Given the description of an element on the screen output the (x, y) to click on. 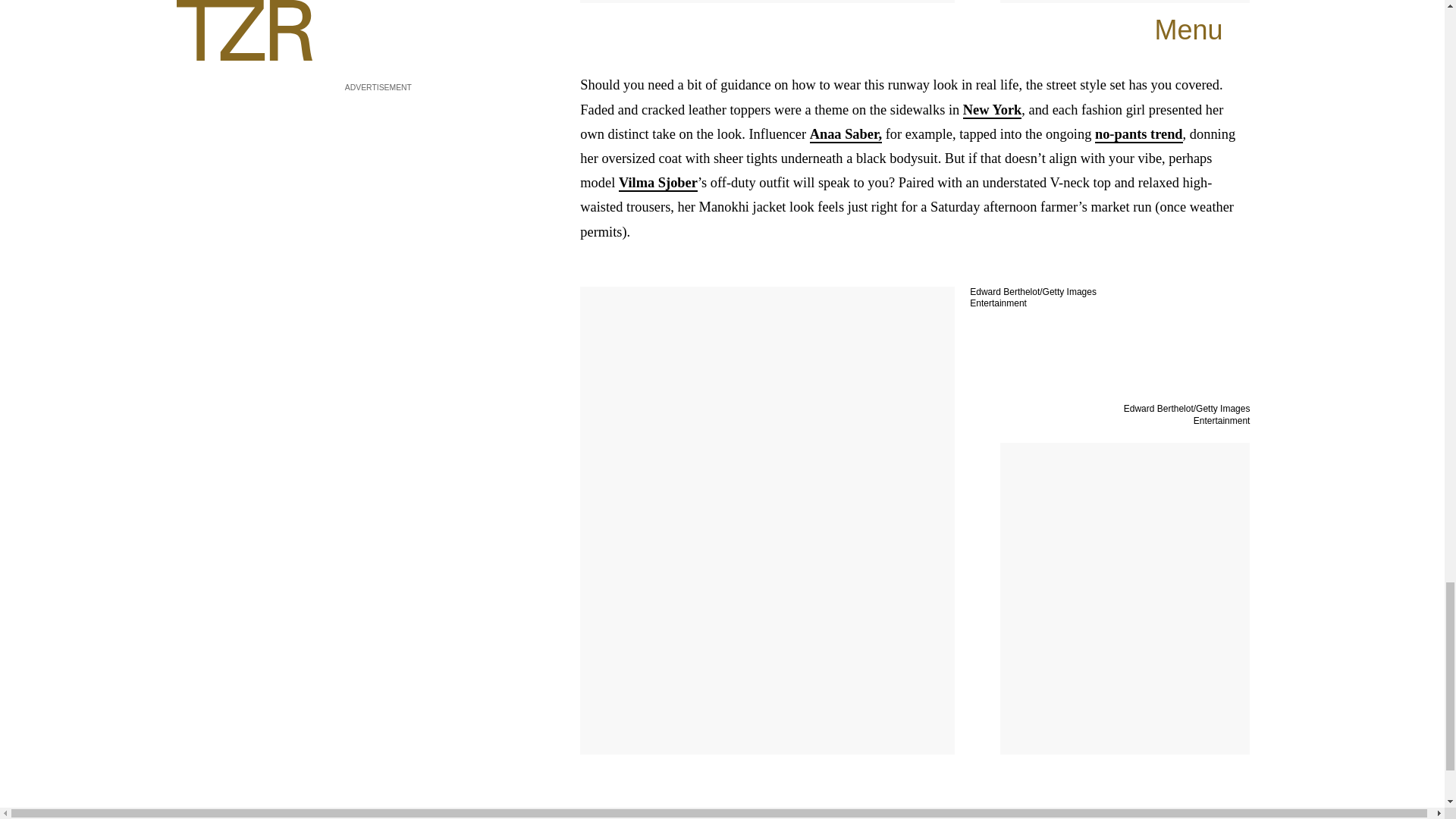
no-pants trend (1138, 134)
Vilma Sjober (657, 183)
Anaa Saber, (845, 134)
New York (992, 110)
